Given the description of an element on the screen output the (x, y) to click on. 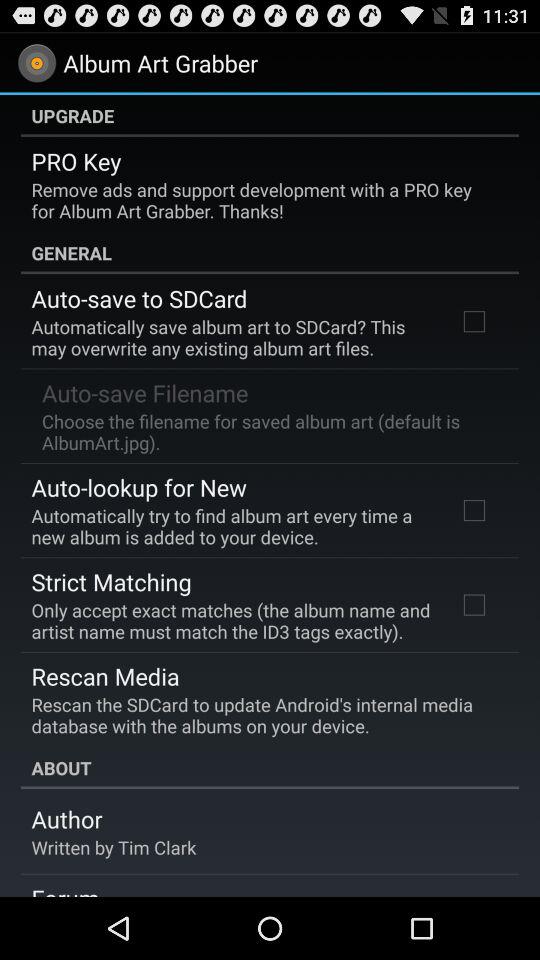
click icon below the strict matching item (231, 620)
